Given the description of an element on the screen output the (x, y) to click on. 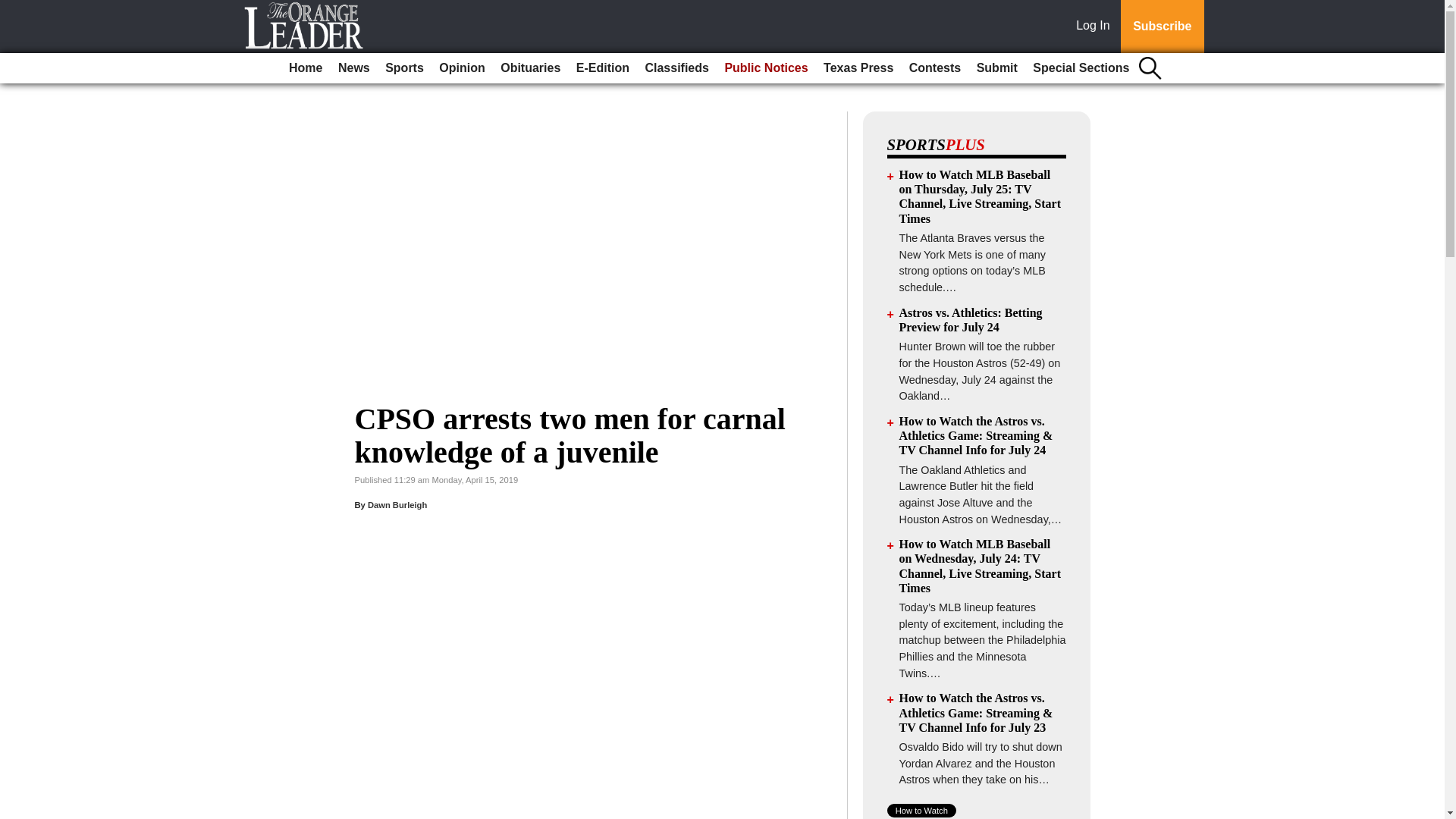
Obituaries (530, 68)
Special Sections (1080, 68)
Dawn Burleigh (397, 504)
Submit (997, 68)
Go (13, 9)
Sports (403, 68)
Public Notices (765, 68)
Home (305, 68)
Subscribe (1162, 26)
Contests (934, 68)
Opinion (461, 68)
News (353, 68)
Texas Press (857, 68)
